Given the description of an element on the screen output the (x, y) to click on. 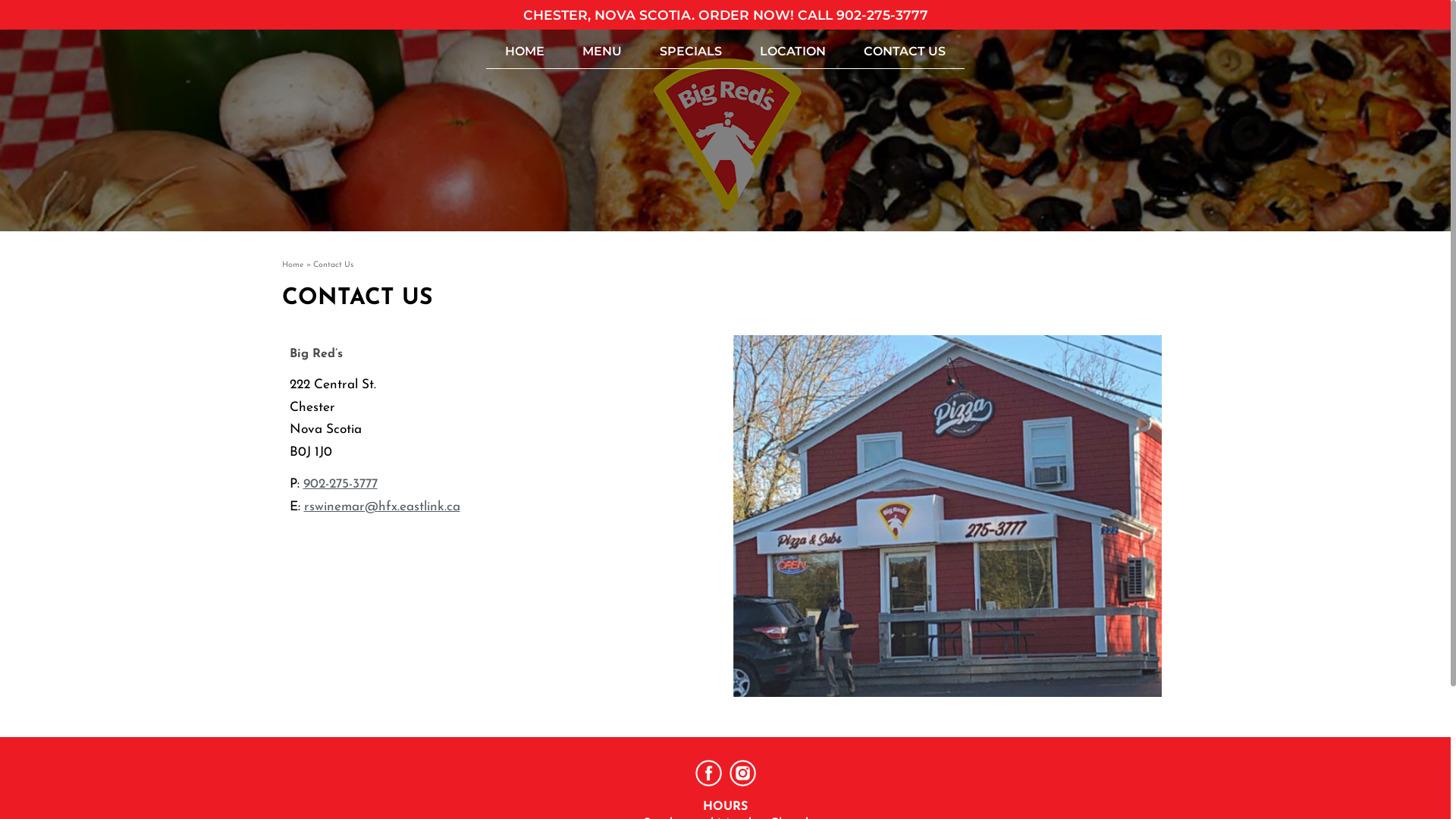
HOME Element type: text (524, 50)
902-275-3777 Element type: text (881, 14)
Home Element type: text (293, 264)
SPECIALS Element type: text (690, 50)
902-275-3777 Element type: text (340, 483)
CONTACT US Element type: text (904, 50)
MENU Element type: text (601, 50)
rswinemar@hfx.eastlink.ca Element type: text (381, 506)
LOCATION Element type: text (792, 50)
